Given the description of an element on the screen output the (x, y) to click on. 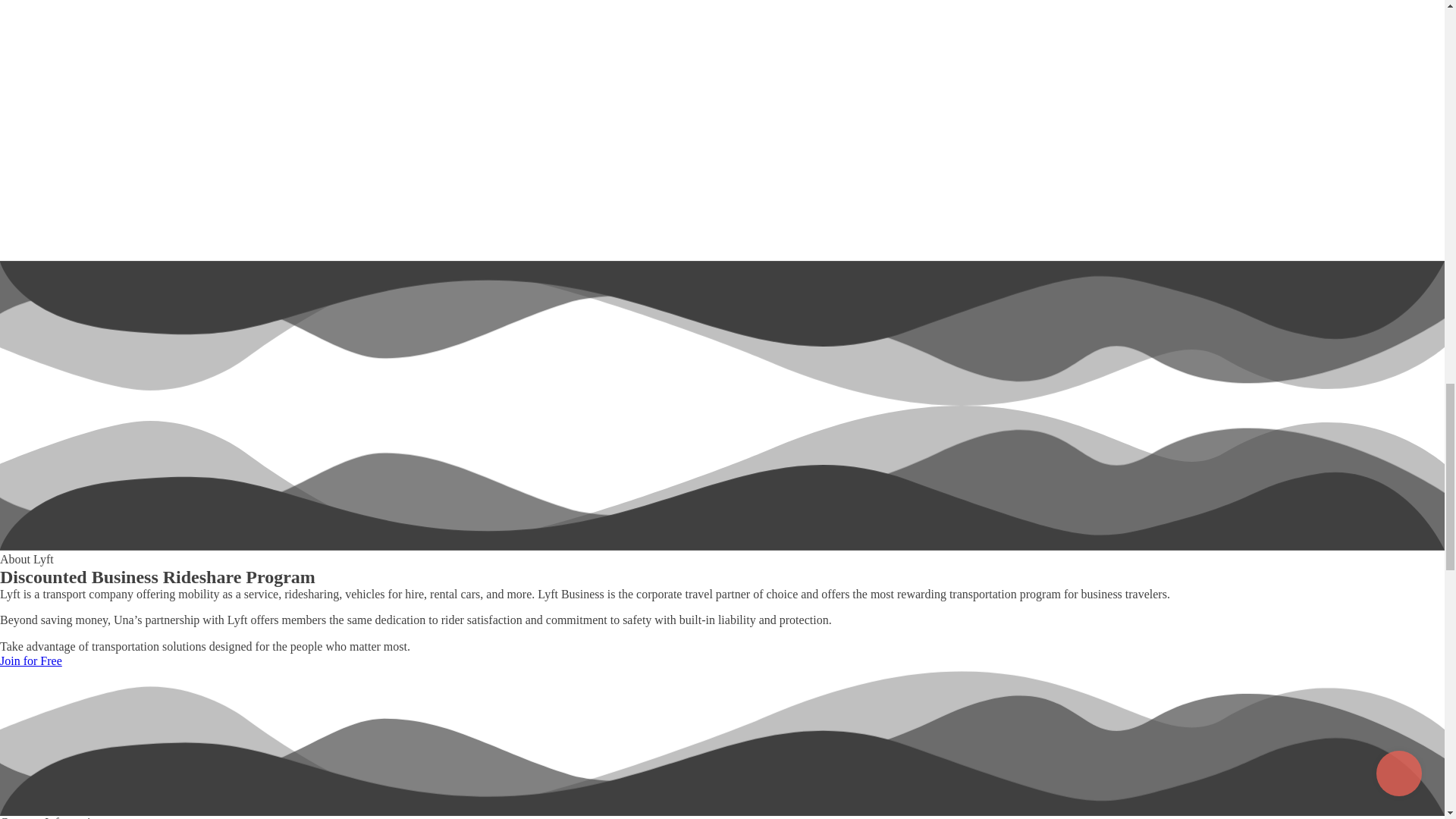
Join for Free (31, 659)
